Given the description of an element on the screen output the (x, y) to click on. 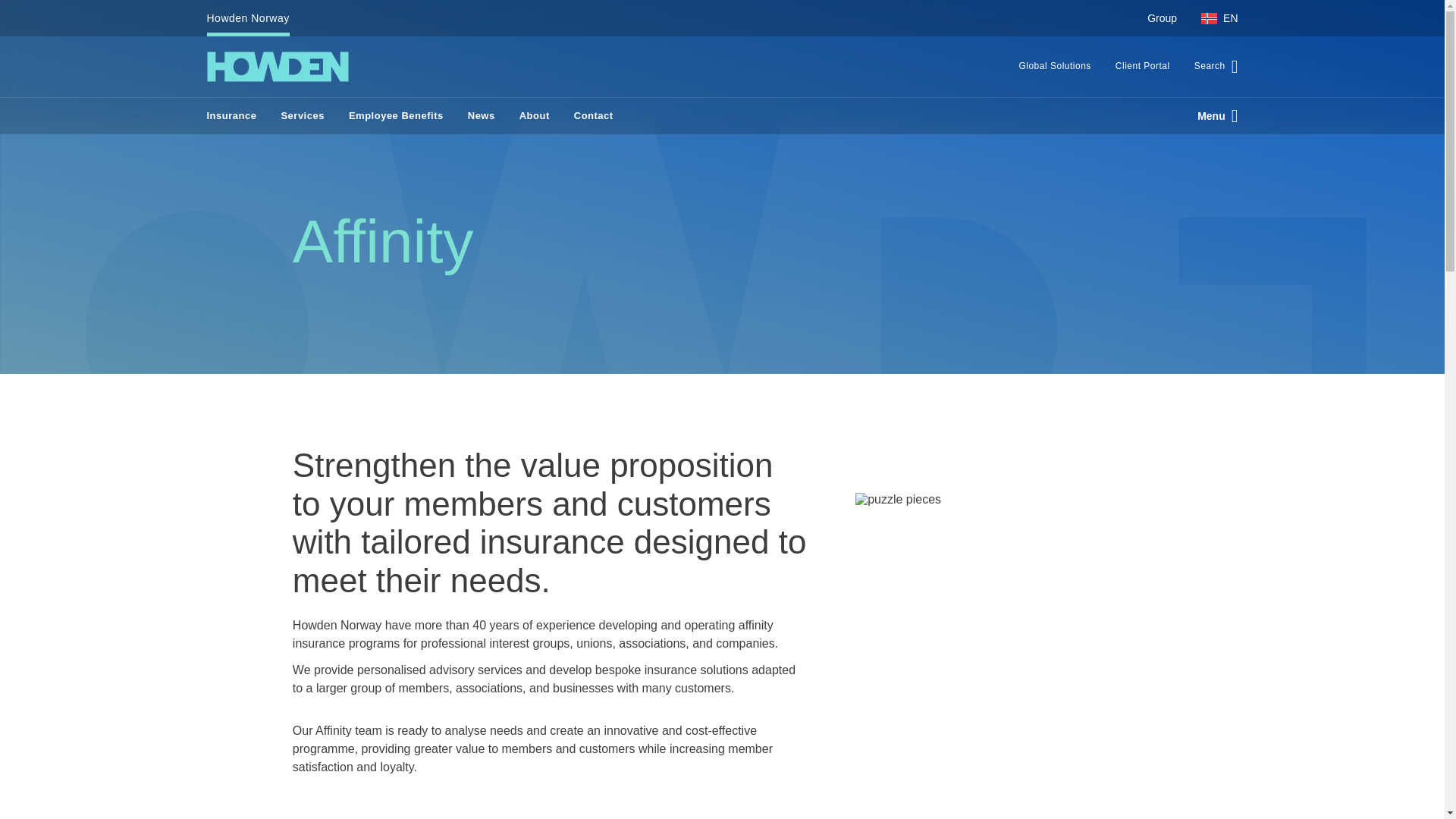
Group (1162, 18)
Search (1210, 66)
Menu (1211, 115)
Global Solutions (1054, 66)
Client Portal (1142, 66)
Howden Broking Group (276, 66)
EN (1213, 18)
